Given the description of an element on the screen output the (x, y) to click on. 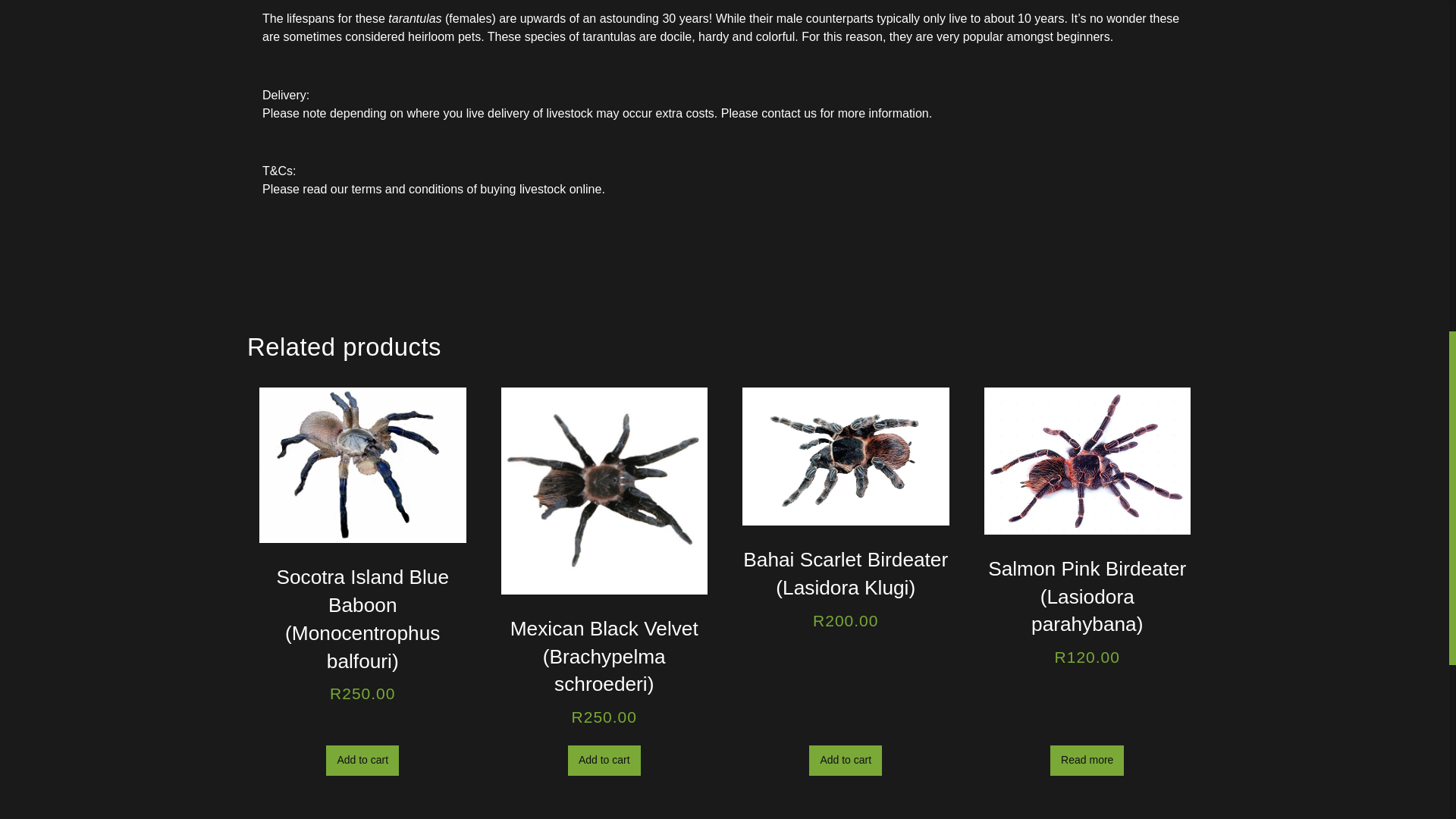
Add to cart (603, 760)
Add to cart (362, 760)
Read more (1086, 760)
Add to cart (845, 760)
terms and conditions (406, 188)
contact us (788, 113)
